Given the description of an element on the screen output the (x, y) to click on. 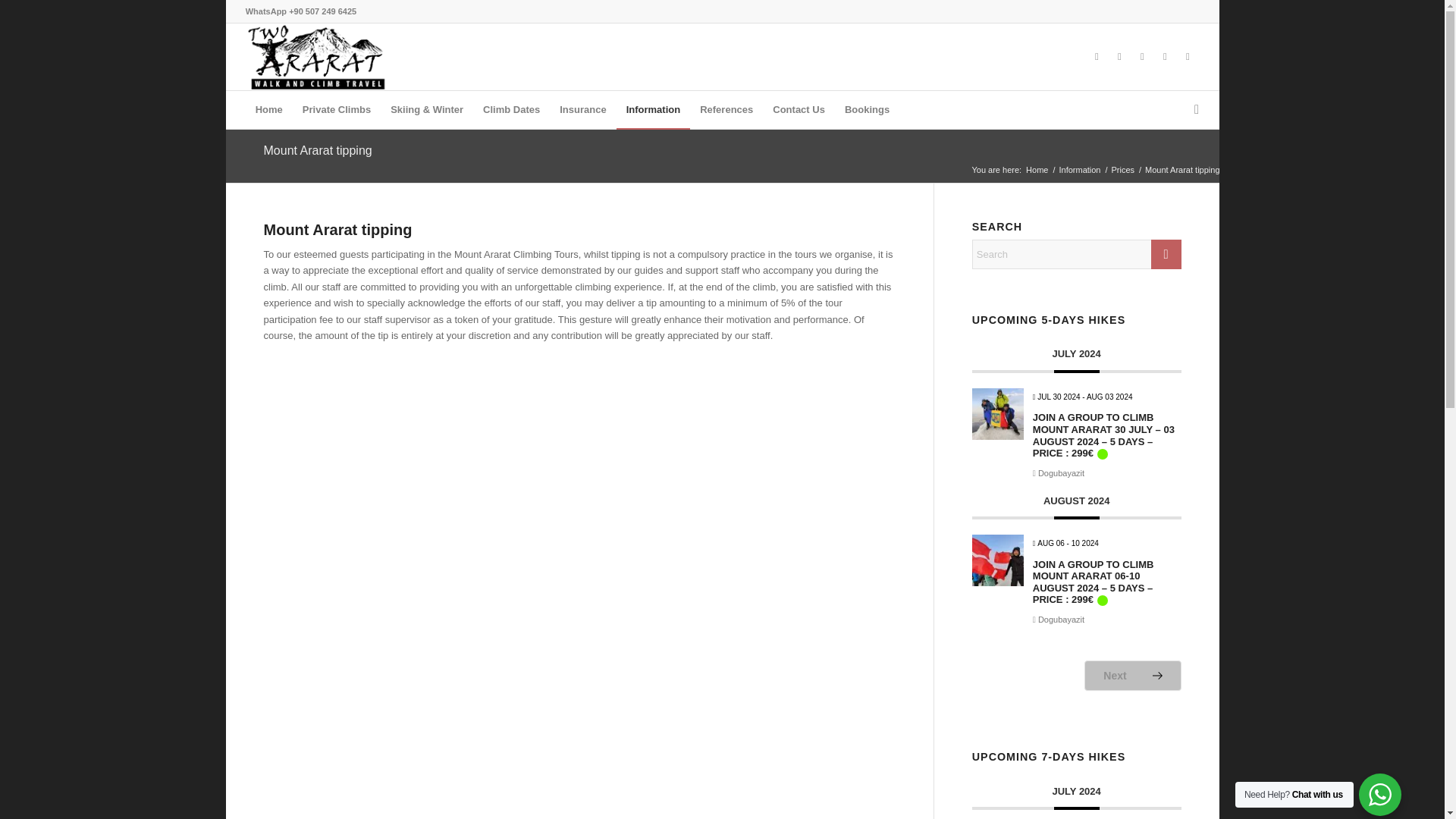
Permanent Link: Mount Ararat tipping (317, 150)
logo-main (318, 56)
Private Climbs (336, 109)
Home (269, 109)
Contact Us (798, 109)
